Given the description of an element on the screen output the (x, y) to click on. 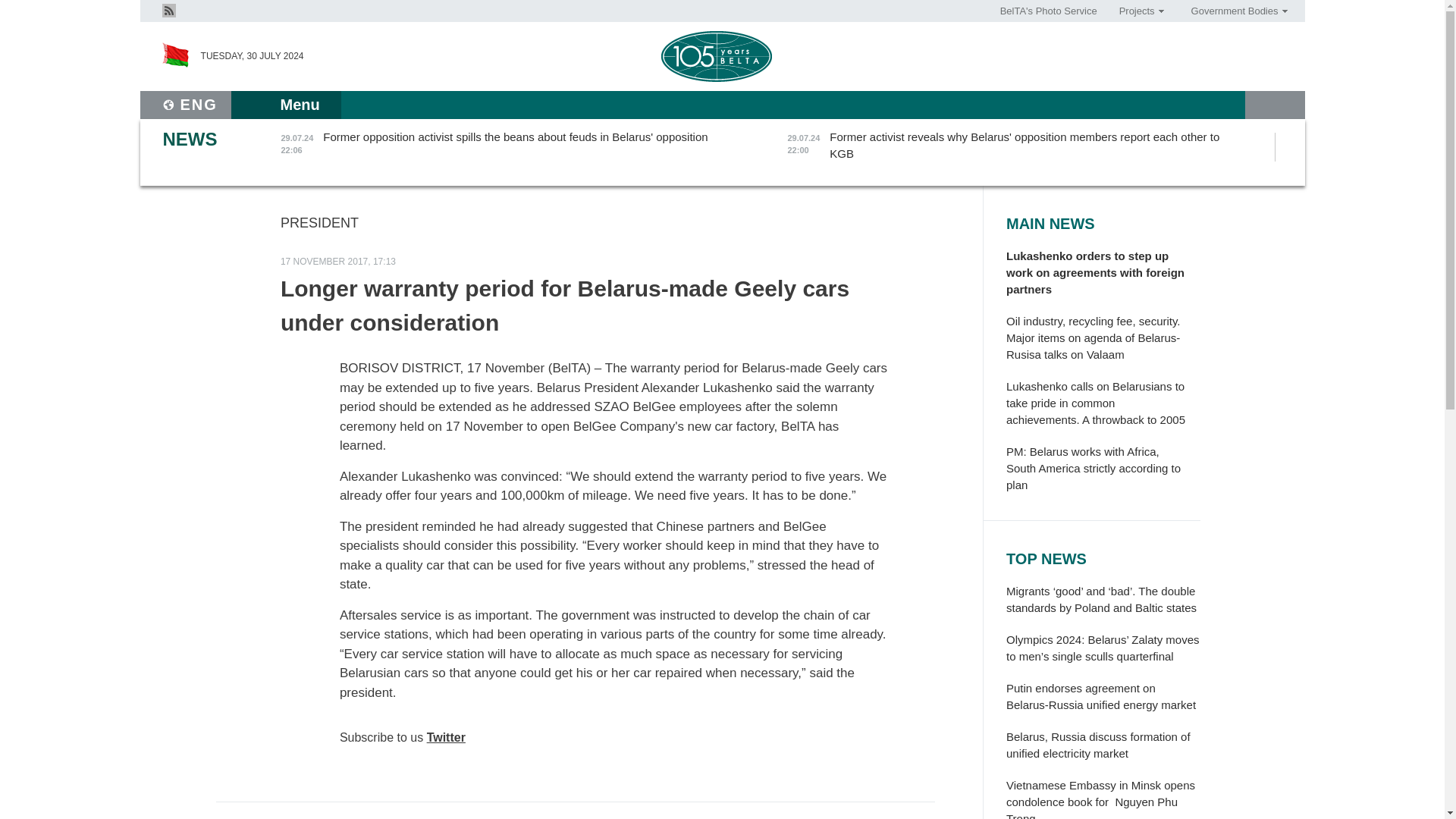
Projects (1136, 11)
Government Bodies (1233, 11)
Rss (167, 9)
Projects (1136, 11)
Government Bodies (1233, 11)
BelTA's Photo Service (1048, 11)
BelTA's Photo Service (1048, 11)
Rss (168, 10)
